Given the description of an element on the screen output the (x, y) to click on. 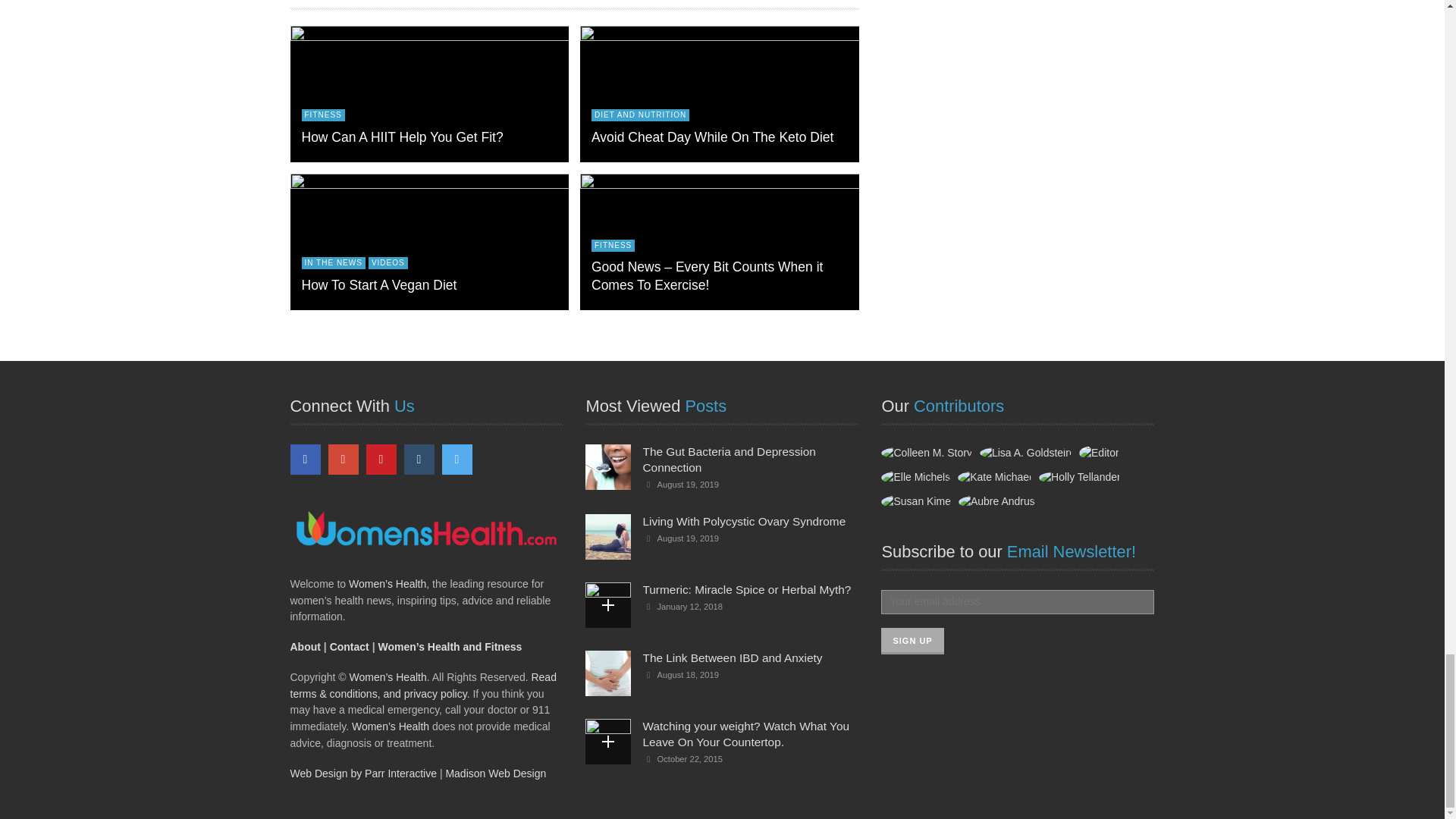
View all posts in In the News (333, 263)
View all posts in Fitness (612, 245)
View all posts in Videos (387, 263)
View all posts in Fitness (323, 114)
Sign up (911, 641)
View all posts in Diet and Nutrition (639, 114)
